Given the description of an element on the screen output the (x, y) to click on. 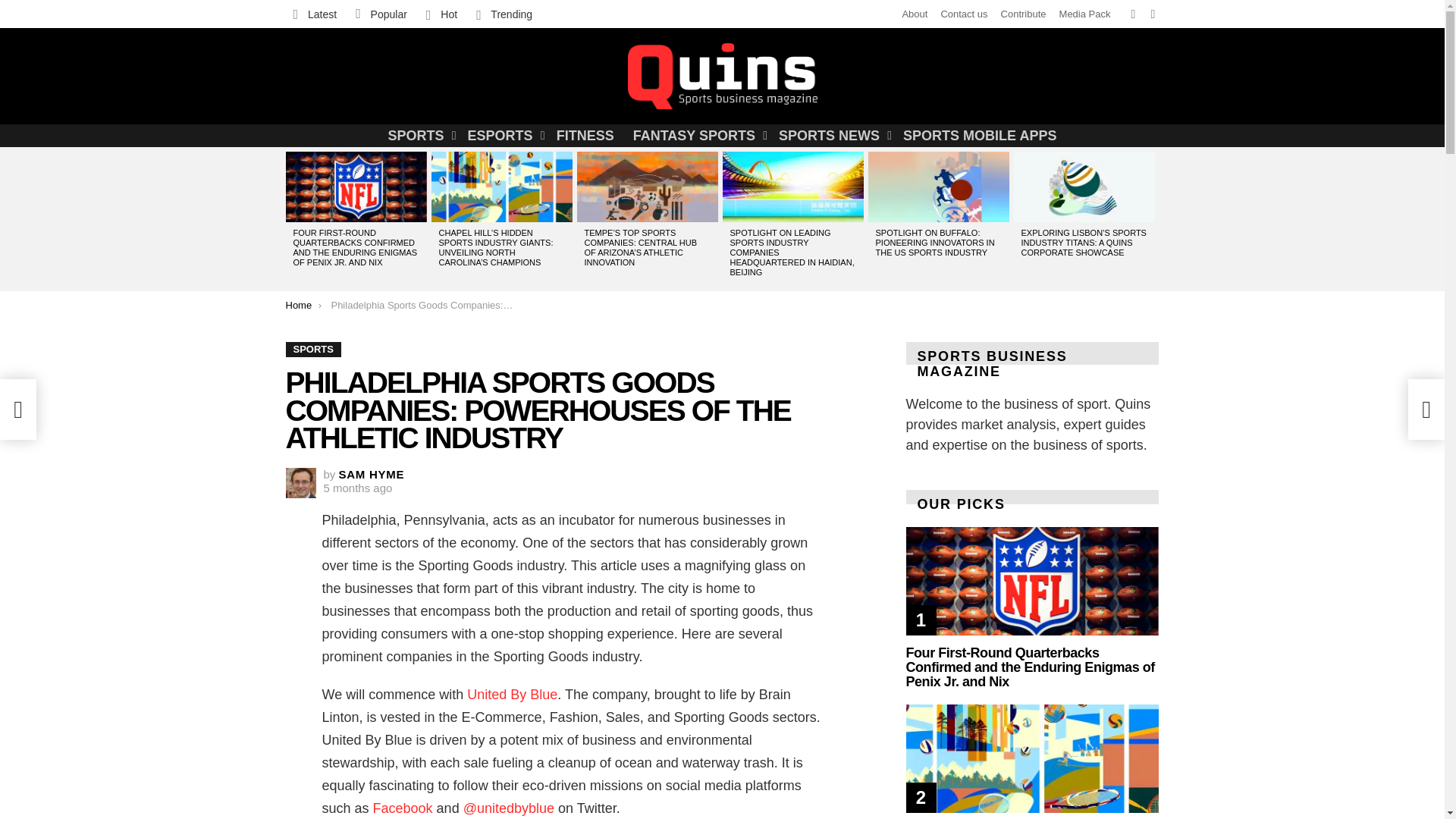
Trending (504, 14)
FANTASY SPORTS (696, 135)
Latest (314, 14)
Contact us (963, 13)
About (914, 13)
Popular (380, 14)
Hot (441, 14)
SPORTS (418, 135)
Media Pack (1084, 13)
FITNESS (584, 135)
Contribute (1023, 13)
ESPORTS (502, 135)
